Given the description of an element on the screen output the (x, y) to click on. 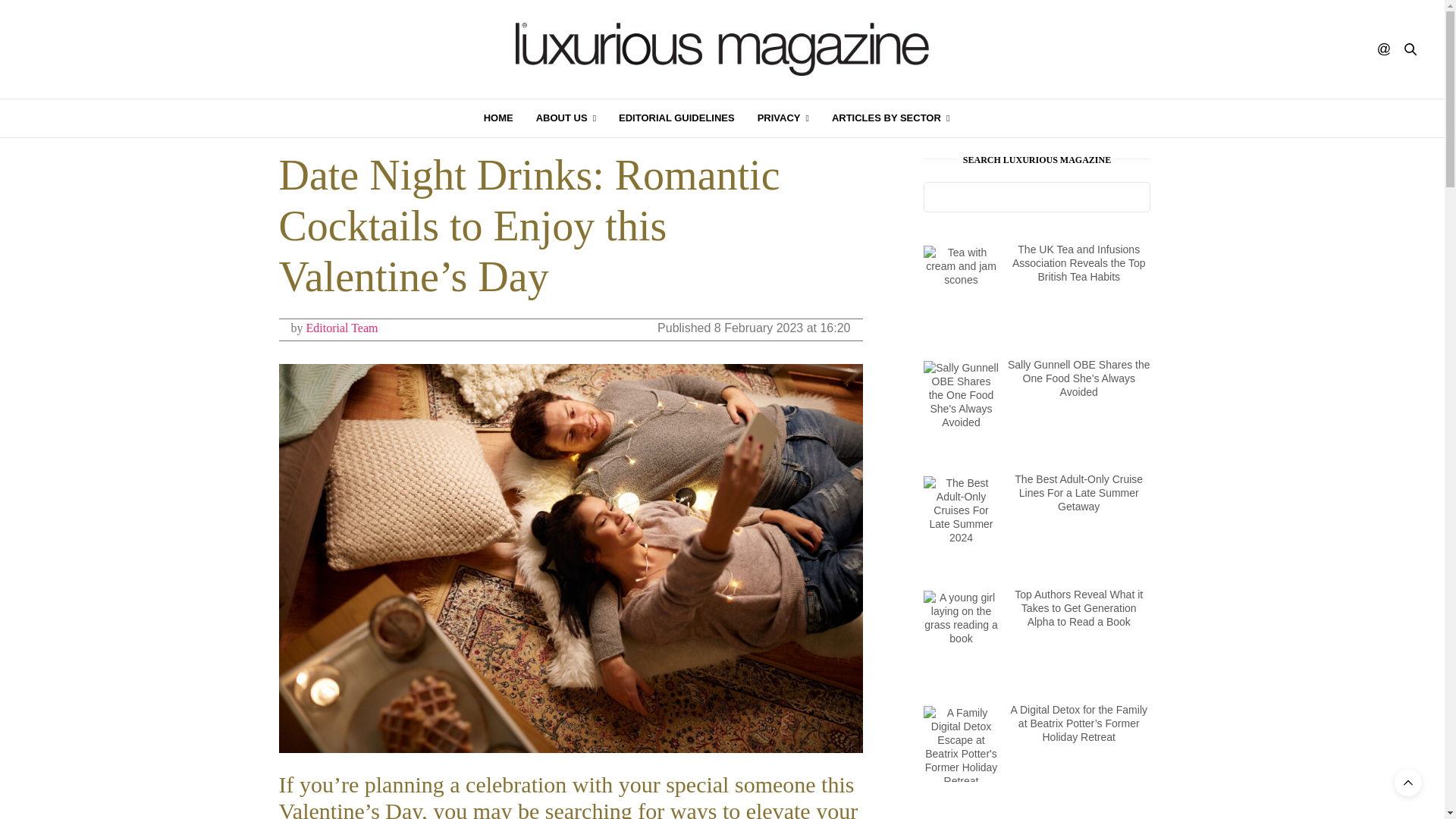
Luxurious Magazine articles by industry sector (890, 118)
Luxurious Magazine (722, 49)
ABOUT US (565, 118)
Posts by Editorial Team (341, 327)
